Given the description of an element on the screen output the (x, y) to click on. 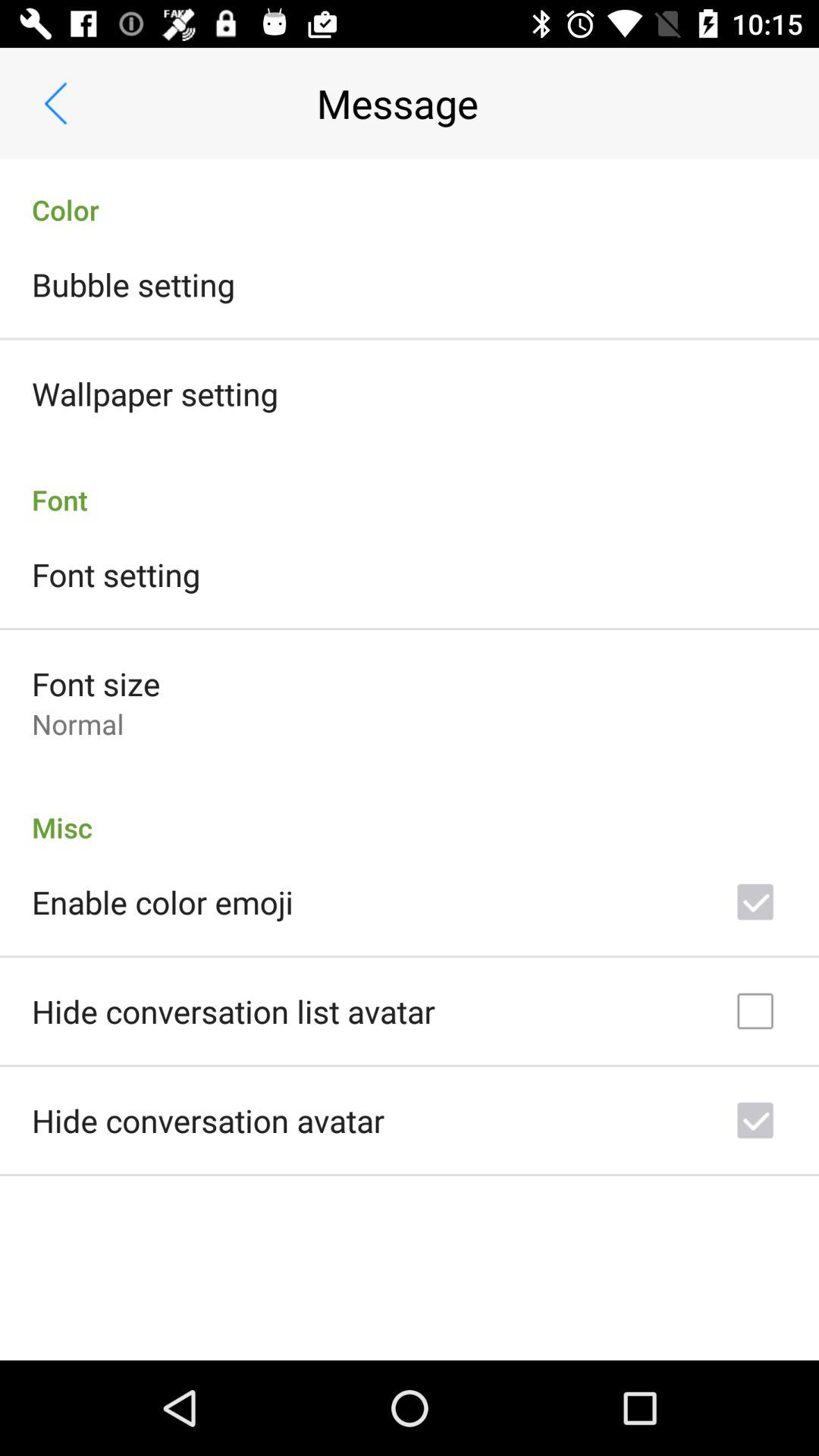
click item below the normal item (409, 811)
